Given the description of an element on the screen output the (x, y) to click on. 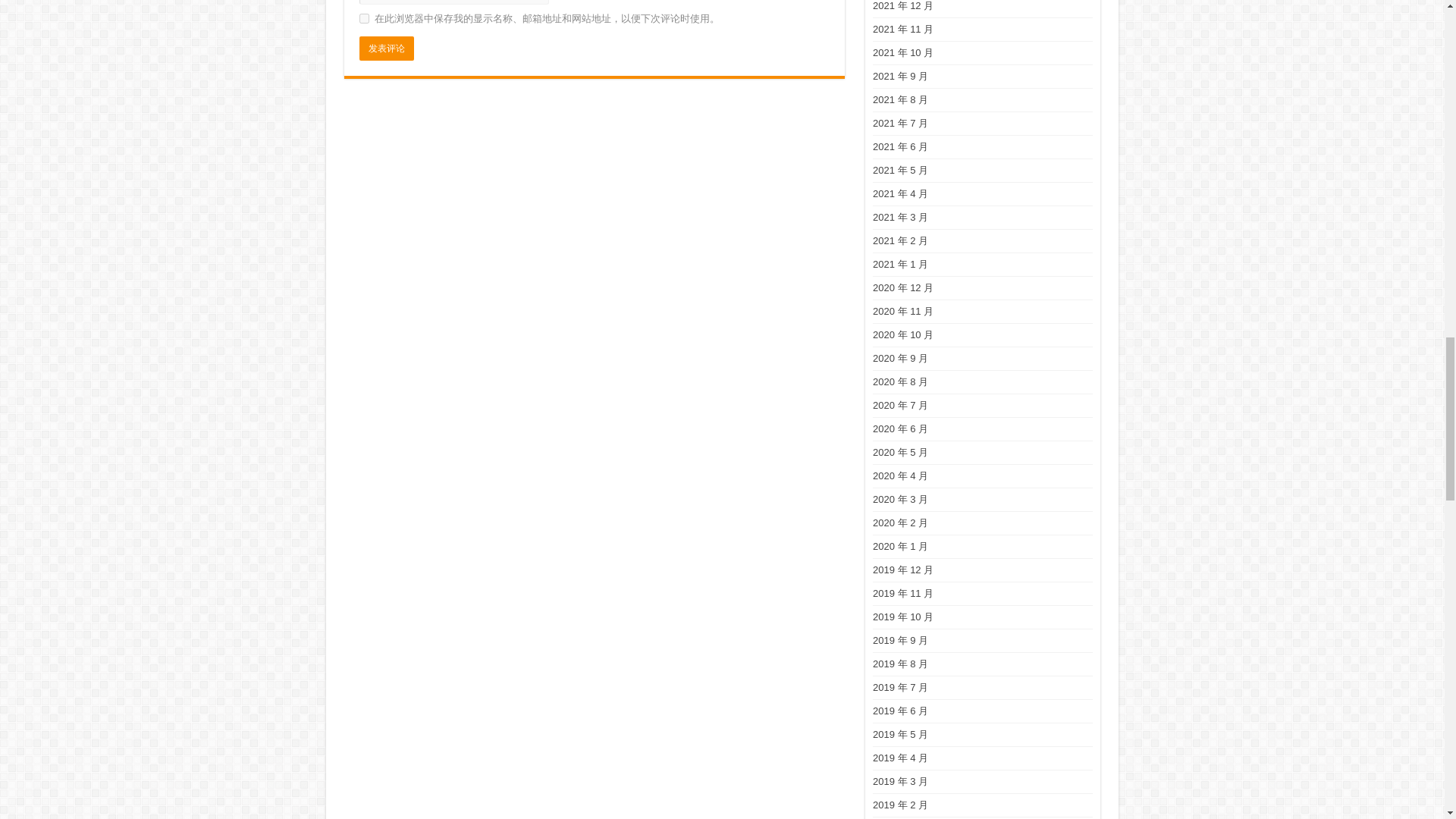
yes (364, 18)
